Given the description of an element on the screen output the (x, y) to click on. 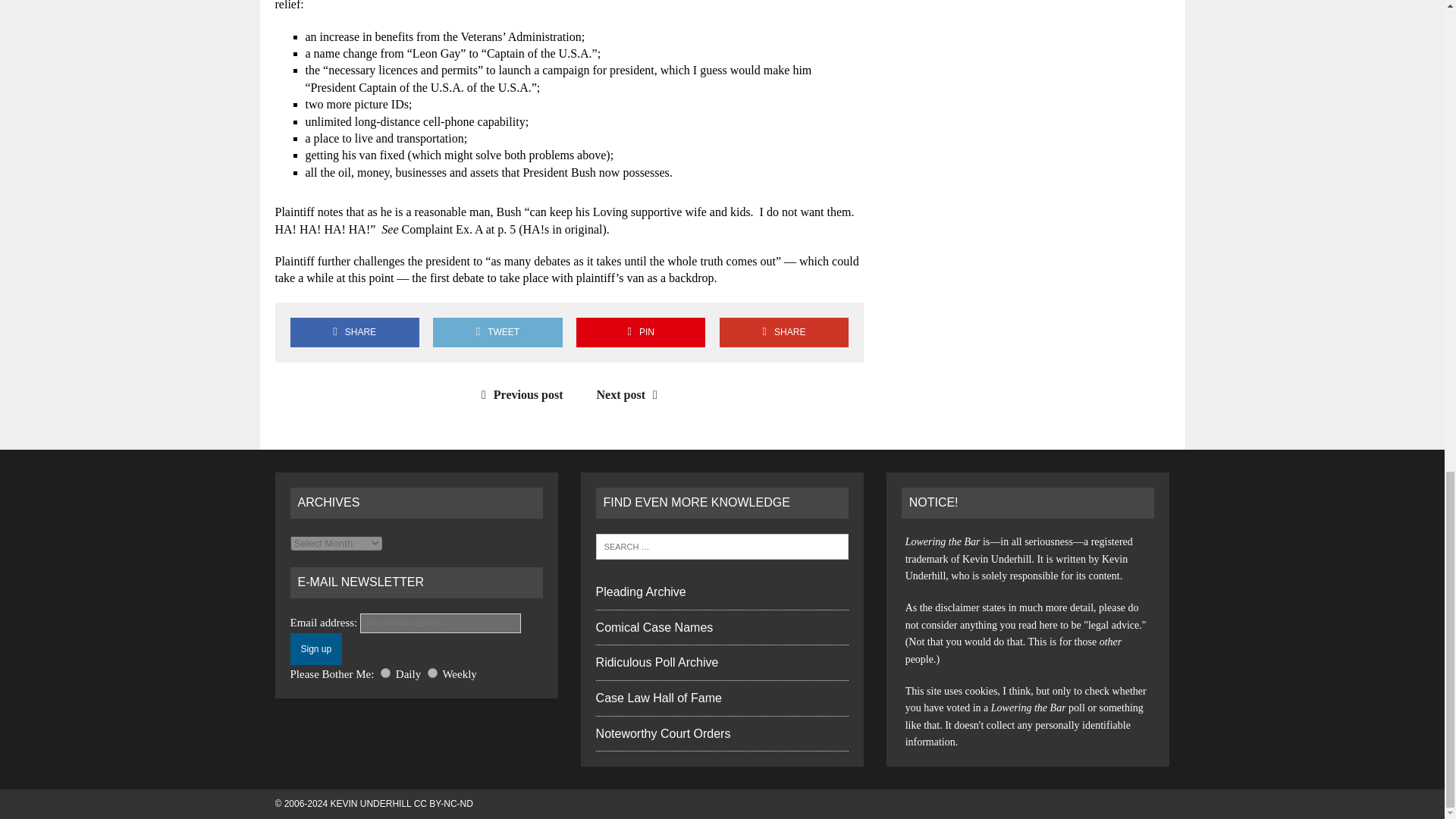
Daily (385, 673)
Tweet This Post (497, 332)
Share on Facebook (354, 332)
Weekly (433, 673)
Sign up (315, 649)
Pin This Post (640, 332)
